Given the description of an element on the screen output the (x, y) to click on. 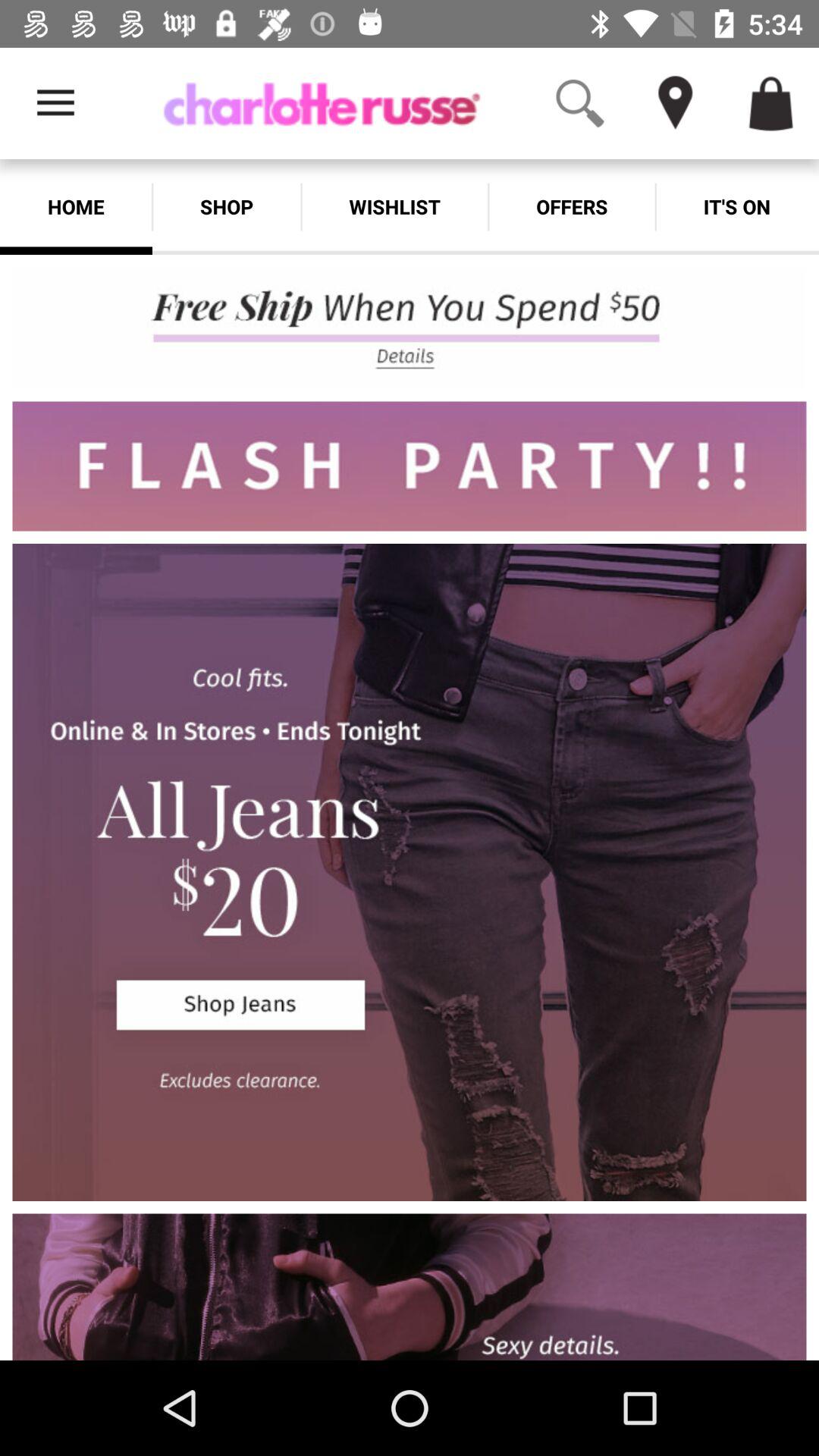
choose item next to offers app (736, 206)
